Given the description of an element on the screen output the (x, y) to click on. 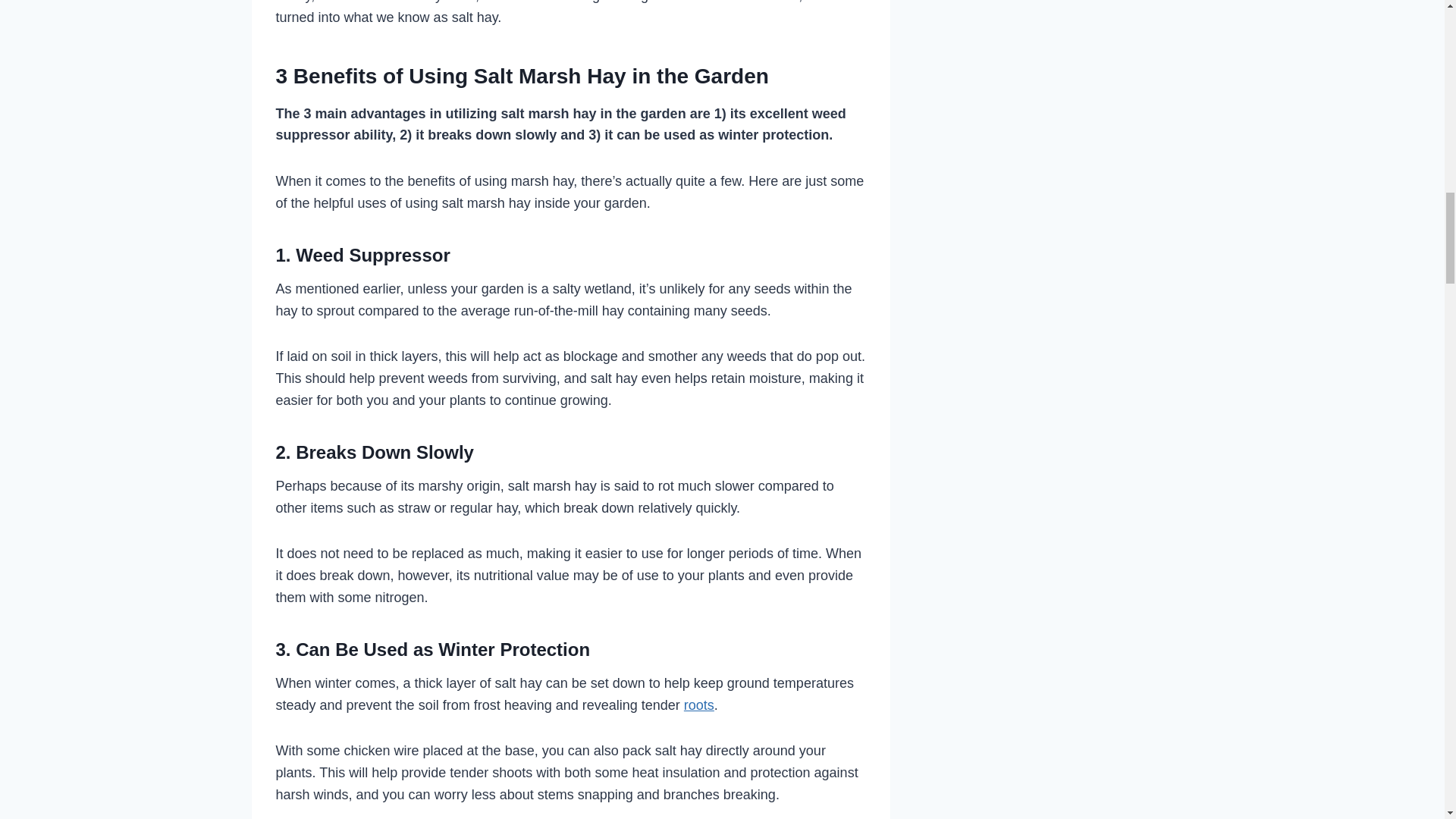
roots (699, 704)
